Given the description of an element on the screen output the (x, y) to click on. 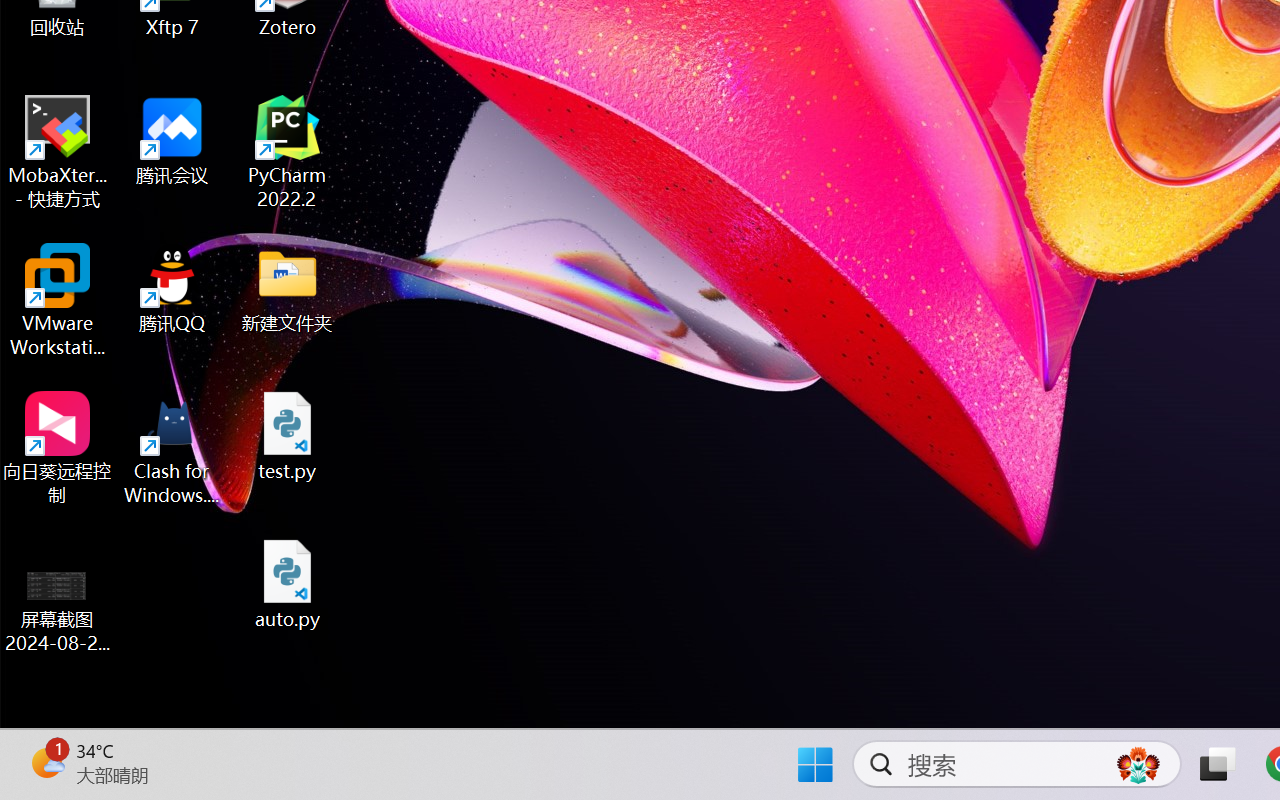
auto.py (287, 584)
PyCharm 2022.2 (287, 152)
VMware Workstation Pro (57, 300)
test.py (287, 436)
